Given the description of an element on the screen output the (x, y) to click on. 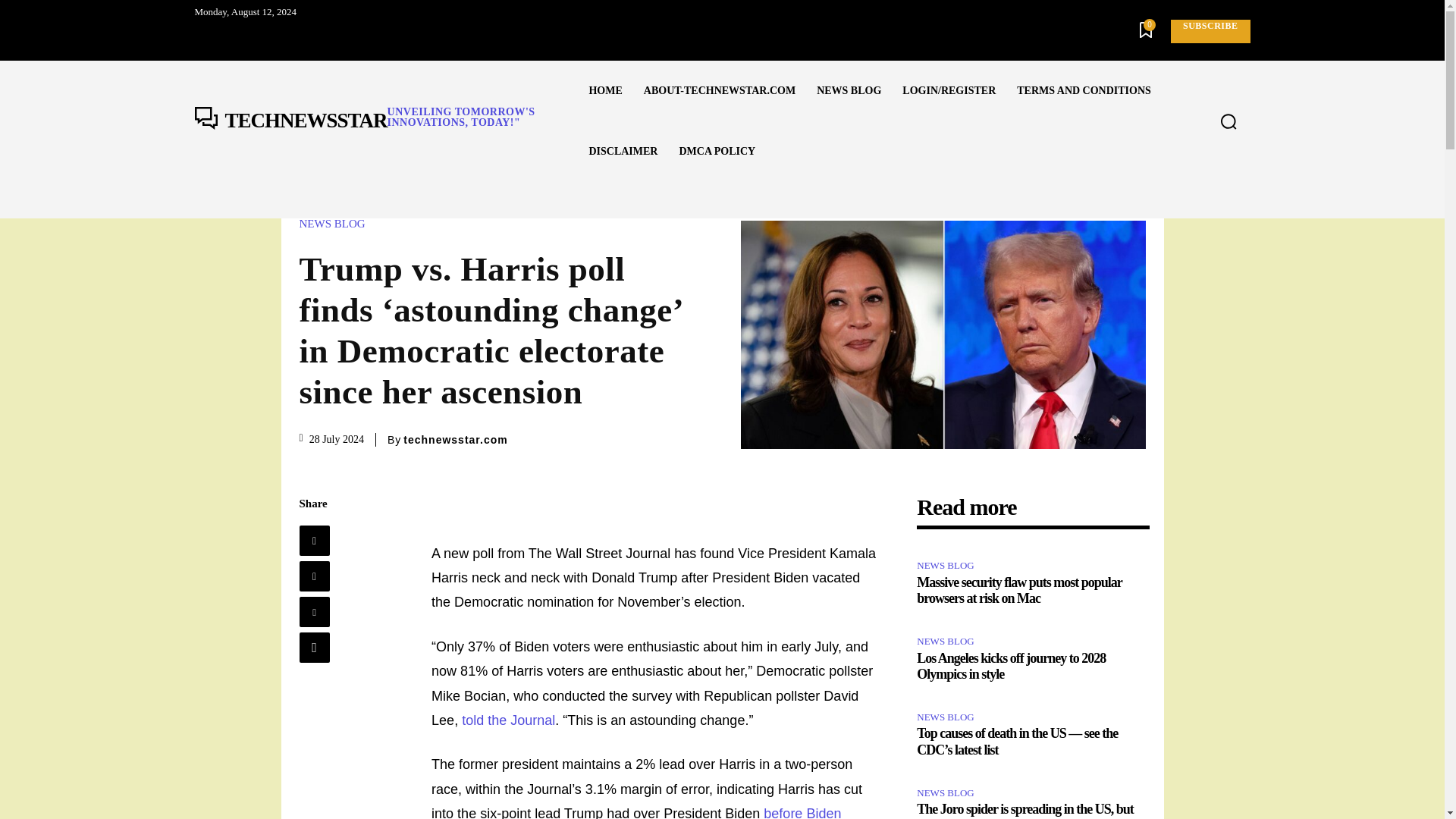
SUBSCRIBE (1210, 31)
Facebook (313, 540)
Subscribe (1210, 31)
Twitter (313, 576)
NEWS BLOG (848, 90)
DISCLAIMER (623, 151)
before Biden withdrew from the race (385, 121)
NEWS BLOG (635, 812)
